Given the description of an element on the screen output the (x, y) to click on. 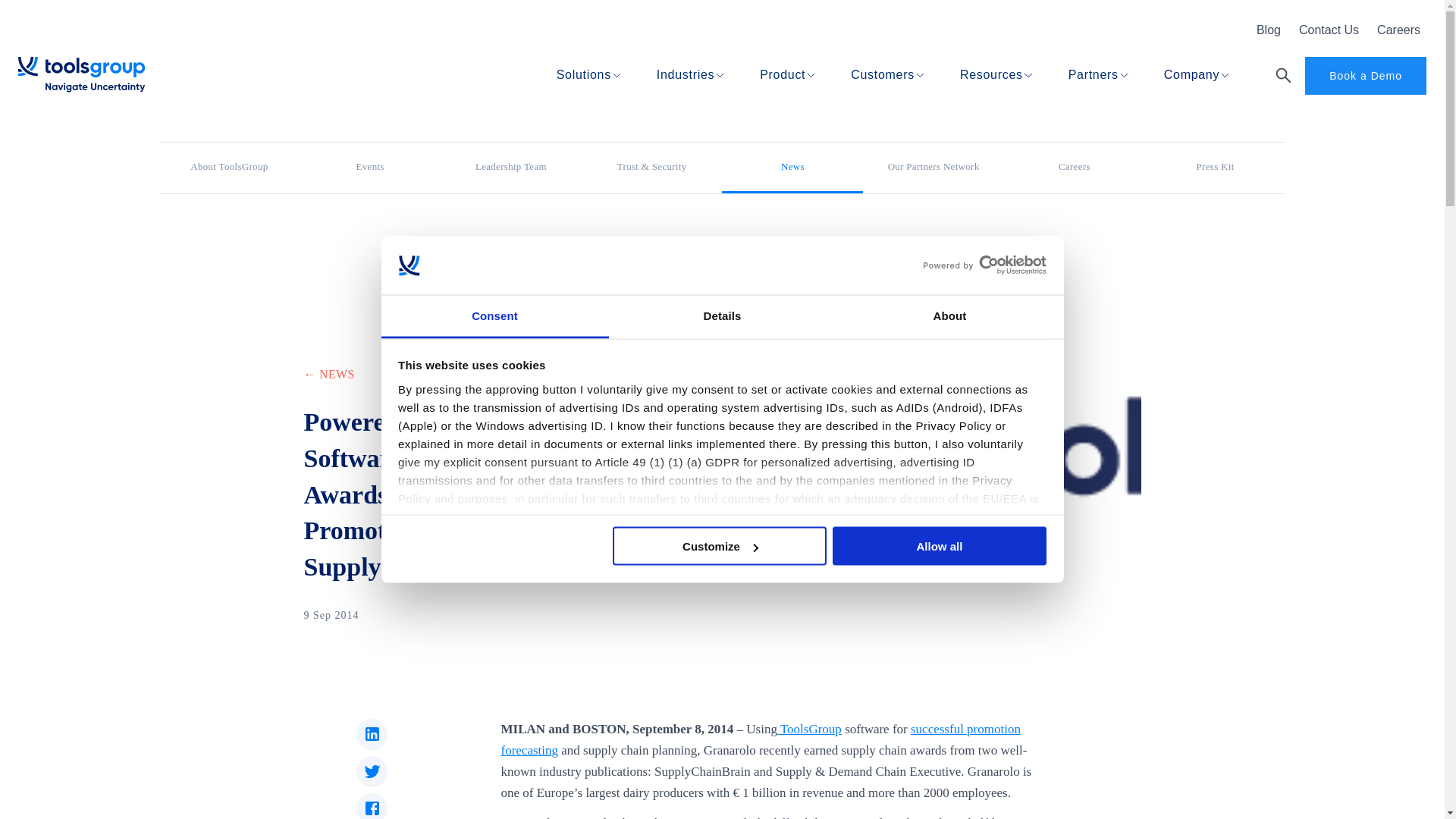
About (948, 316)
Details (721, 316)
Consent (494, 316)
